Given the description of an element on the screen output the (x, y) to click on. 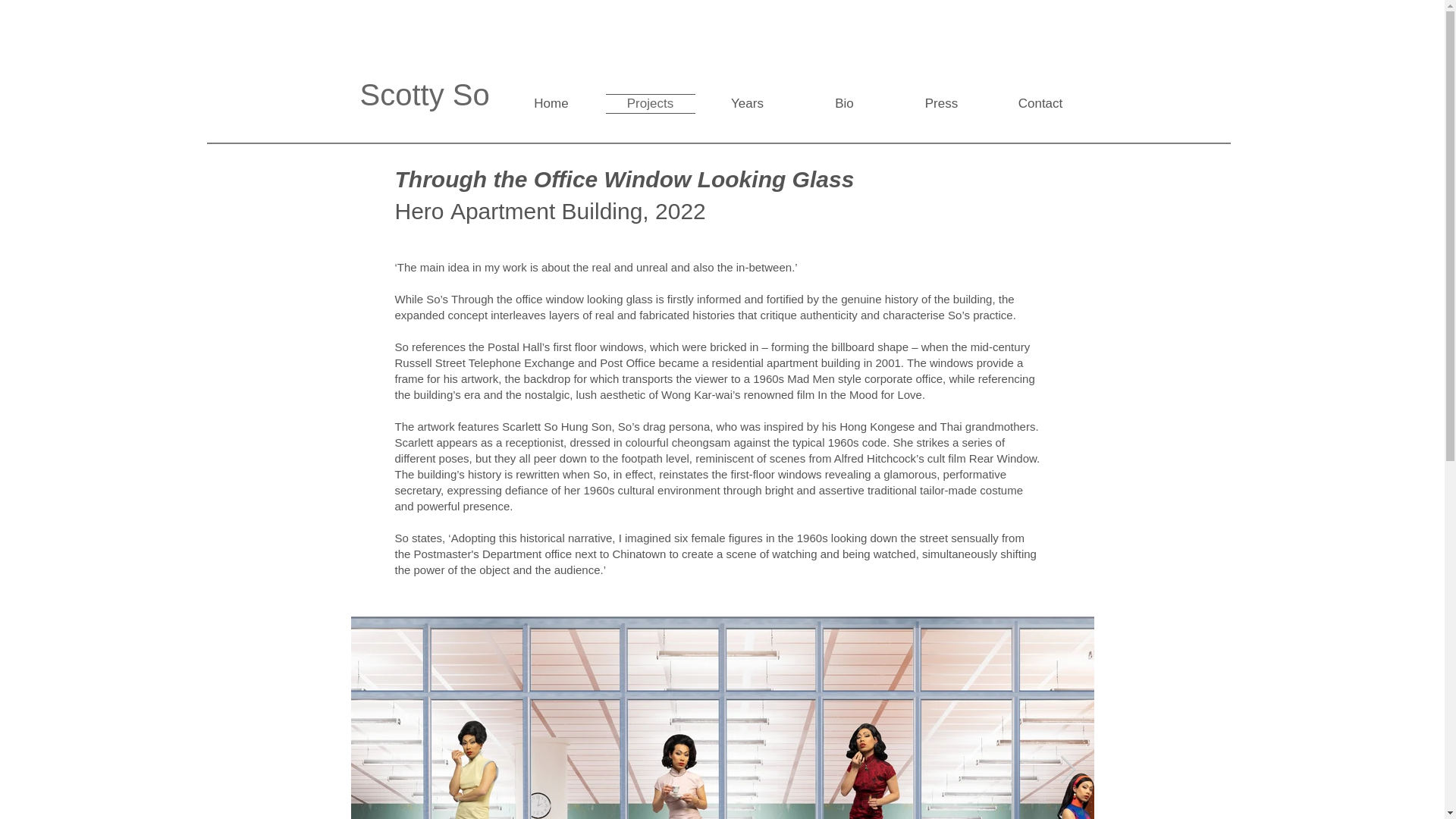
Bio (844, 103)
Home (553, 103)
Contact (1038, 103)
Press (941, 103)
Years (747, 103)
Projects (650, 103)
